Given the description of an element on the screen output the (x, y) to click on. 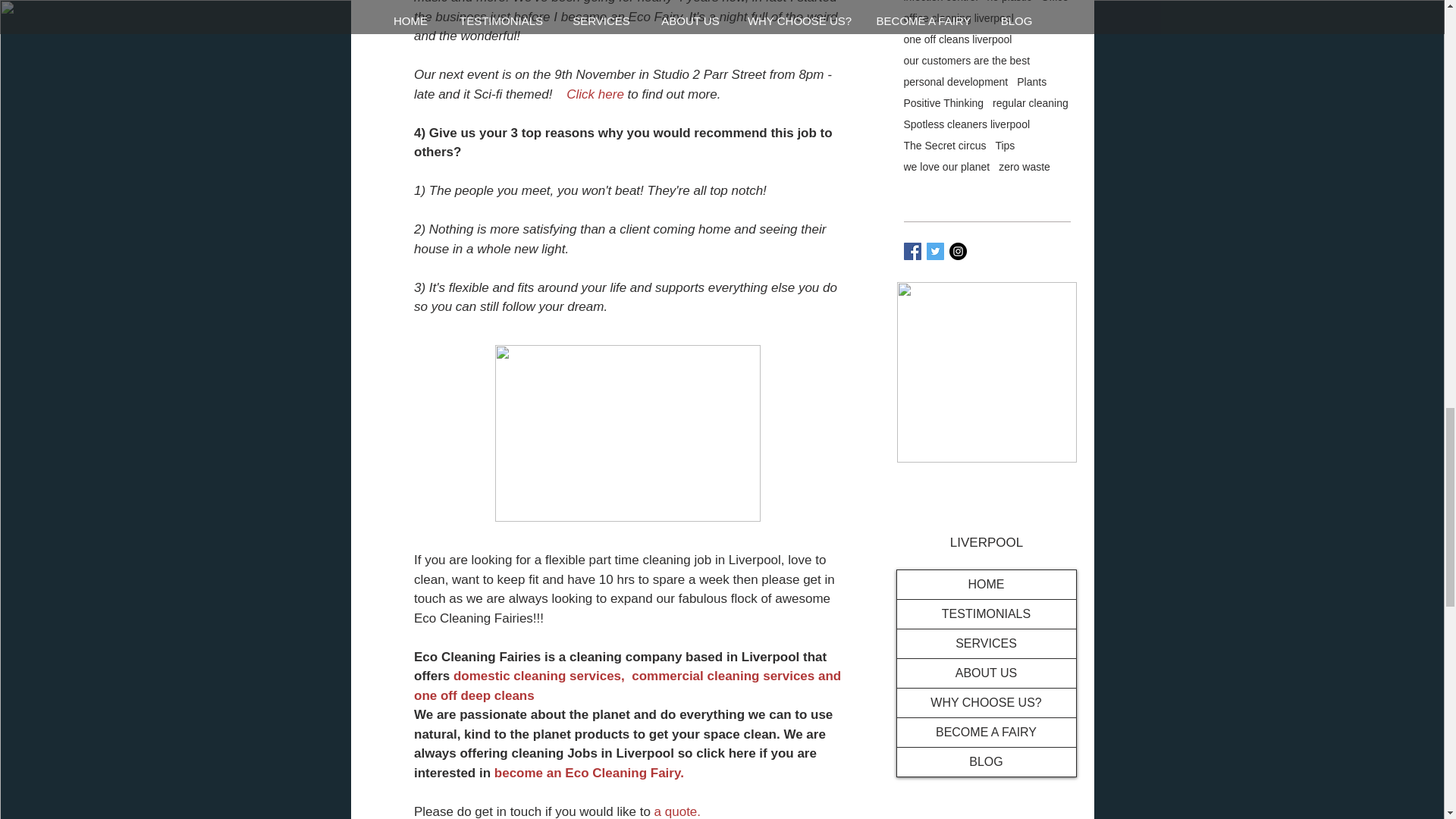
 and (827, 676)
commercial cleaning services (722, 676)
domestic cleaning services, (538, 676)
Click here (595, 93)
one off deep cleans (473, 695)
a quote. (676, 811)
become an Eco Cleaning Fairy. (587, 772)
